Given the description of an element on the screen output the (x, y) to click on. 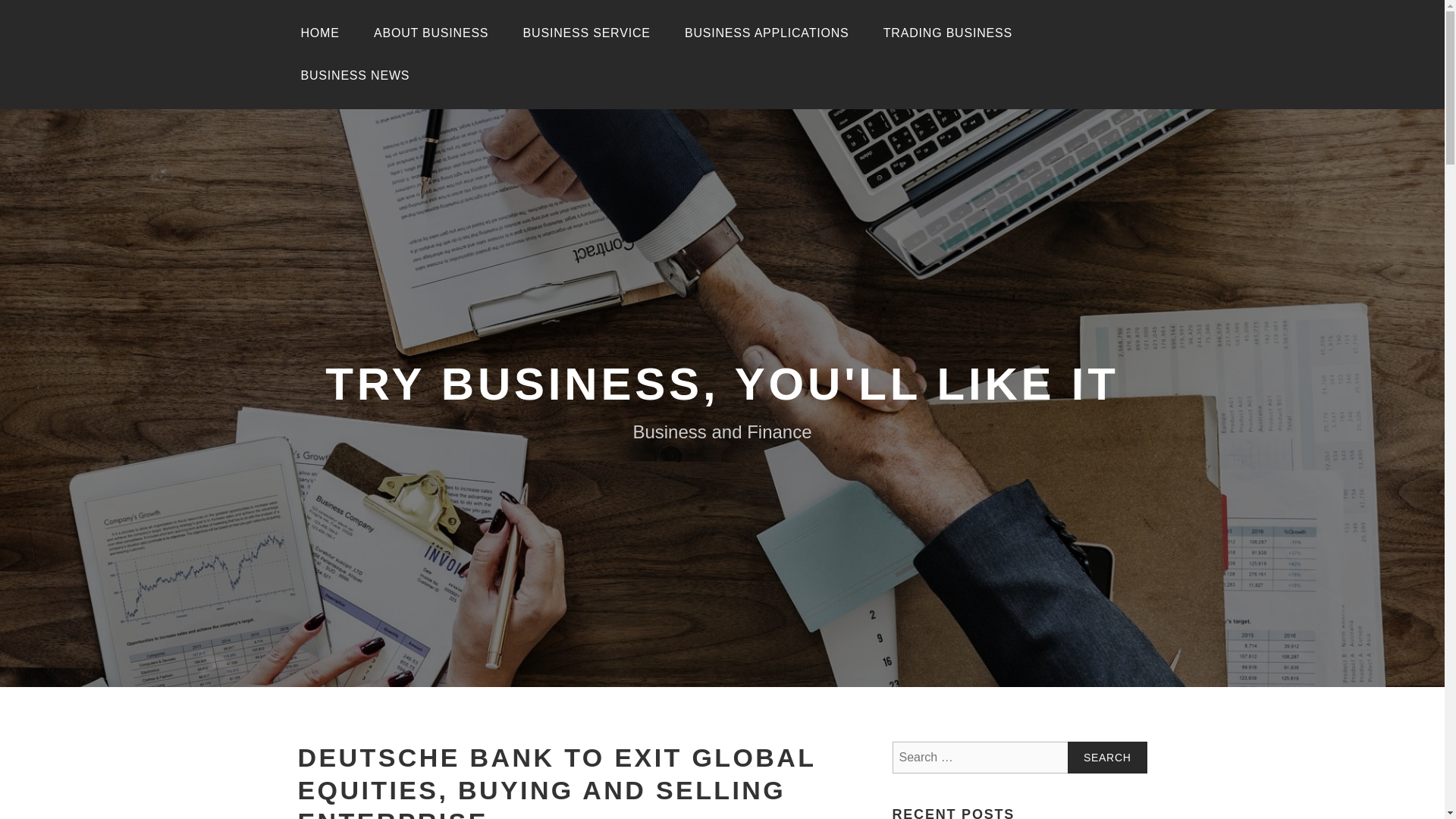
TRADING BUSINESS (947, 33)
BUSINESS APPLICATIONS (766, 33)
Search (1107, 757)
TRY BUSINESS, YOU'LL LIKE IT (721, 383)
BUSINESS SERVICE (586, 33)
HOME (319, 33)
Search (1107, 757)
BUSINESS NEWS (355, 75)
Search (1107, 757)
ABOUT BUSINESS (430, 33)
